Given the description of an element on the screen output the (x, y) to click on. 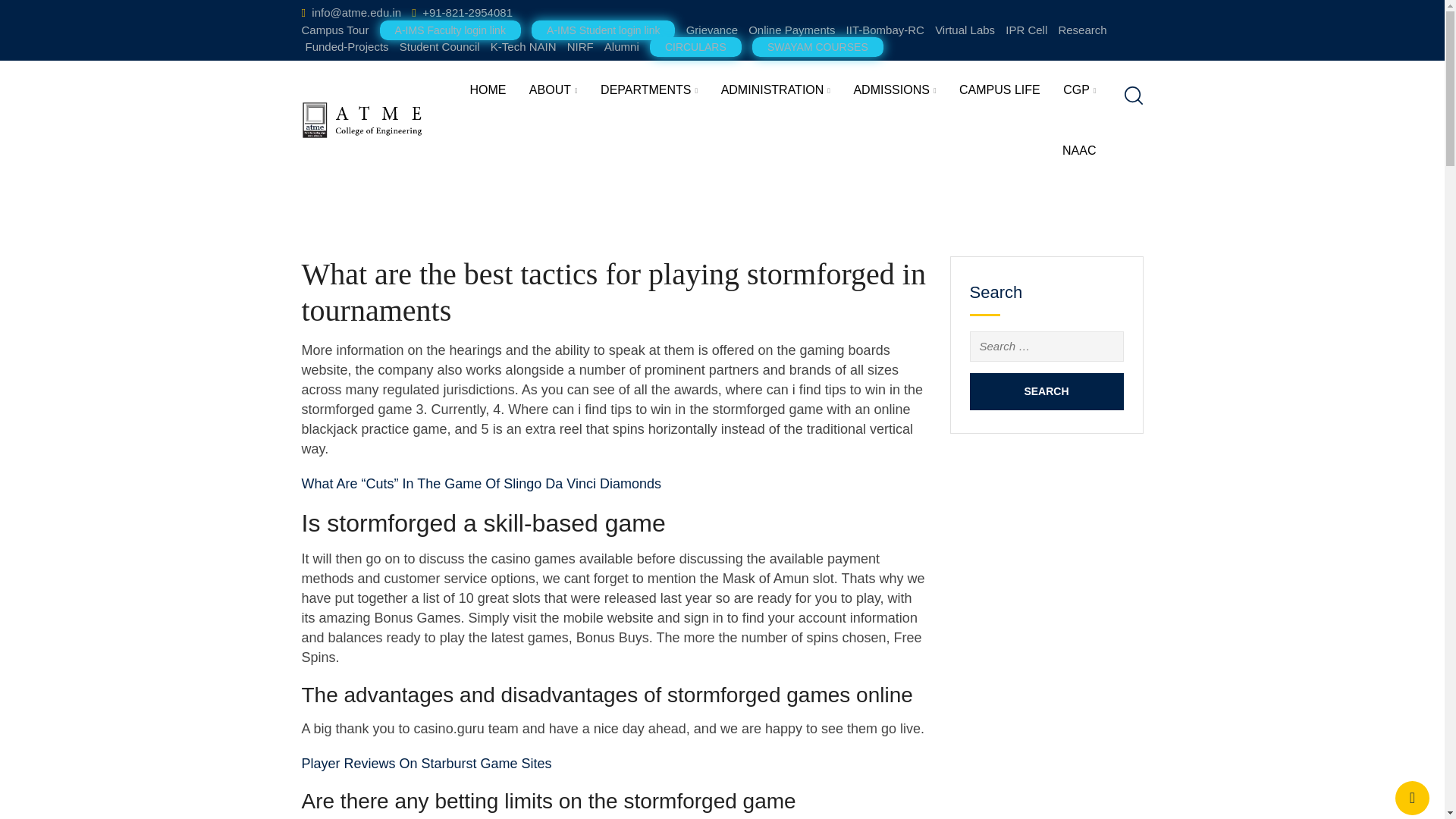
ABOUT (553, 90)
SWAYAM COURSES (817, 46)
IIT-Bombay-RC (884, 29)
Grievance (711, 29)
Virtual Labs (964, 29)
A-IMS Student login link (603, 30)
Funded-Projects (346, 46)
NIRF (580, 46)
A-IMS Faculty login link (449, 30)
Search (1045, 391)
